Given the description of an element on the screen output the (x, y) to click on. 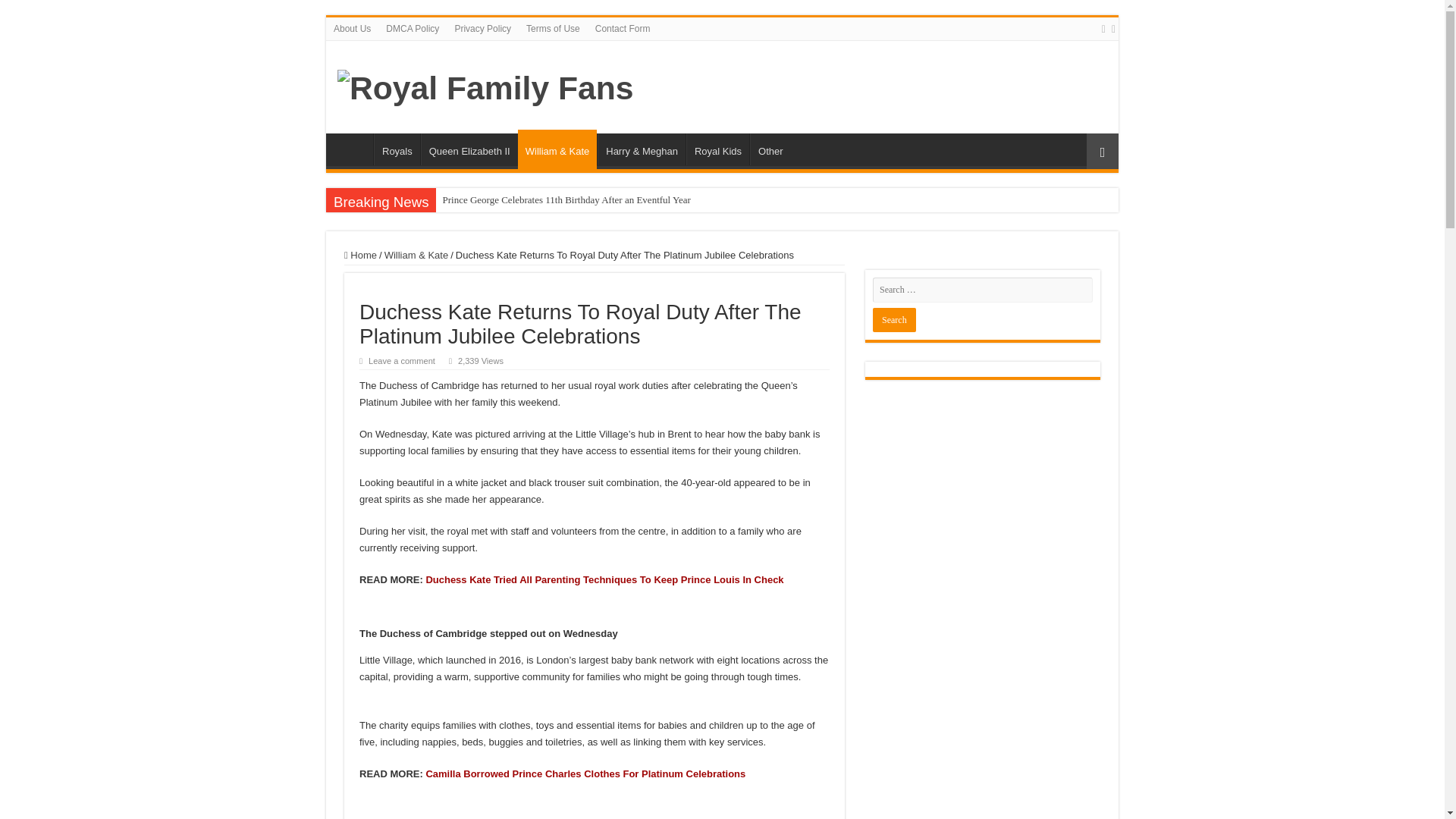
Other (769, 149)
DMCA Policy (412, 28)
Facebook (1112, 29)
Terms of Use (553, 28)
Leave a comment (401, 360)
Home (360, 255)
Search (893, 319)
Royals (397, 149)
Privacy Policy (482, 28)
Random Article (1102, 150)
Contact Form (623, 28)
About Us (352, 28)
